Given the description of an element on the screen output the (x, y) to click on. 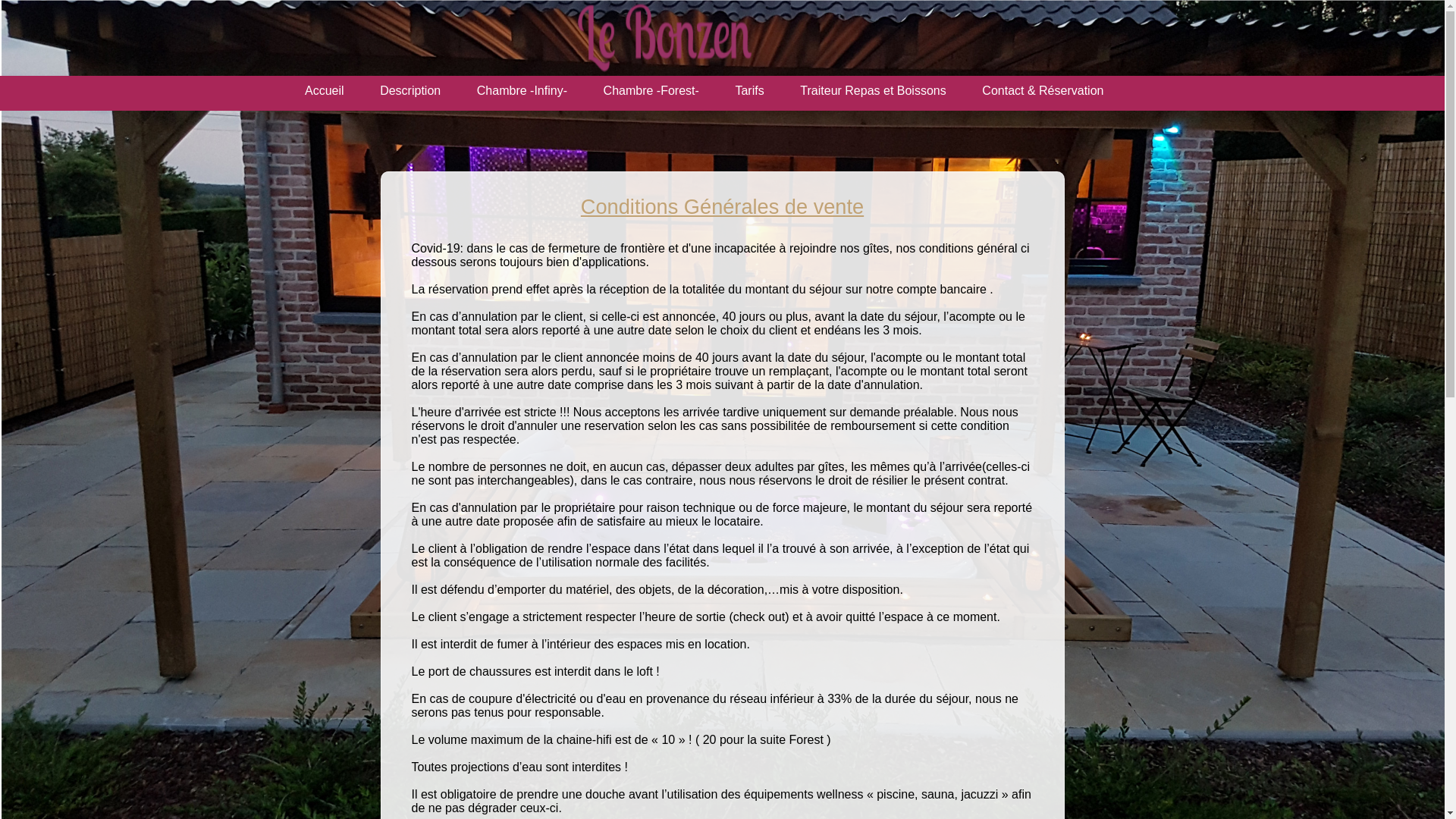
Tarifs Element type: text (748, 90)
Chambre -Infiny- Element type: text (521, 90)
Description Element type: text (409, 90)
Traiteur Repas et Boissons Element type: text (872, 90)
Accueil Element type: text (324, 90)
Chambre -Forest- Element type: text (651, 90)
